Given the description of an element on the screen output the (x, y) to click on. 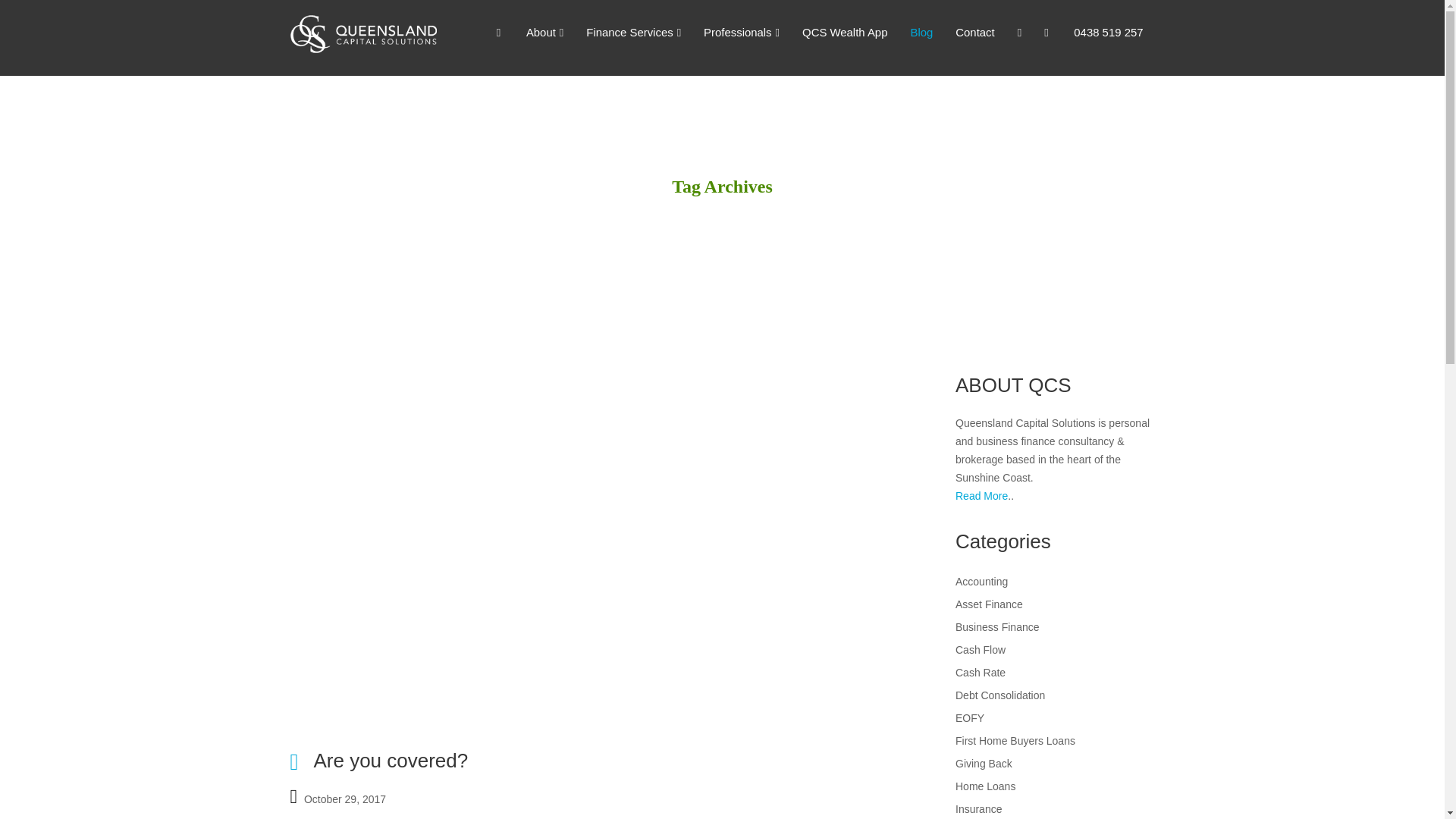
Read More (981, 495)
8:59 pm (343, 797)
About (545, 32)
Are you covered? (390, 760)
Accounting (981, 581)
October 29, 2017 (343, 797)
Finance Services (634, 32)
0438 519 257 (1108, 32)
Contact (974, 32)
QCS Wealth App (844, 32)
Professionals (741, 32)
